Given the description of an element on the screen output the (x, y) to click on. 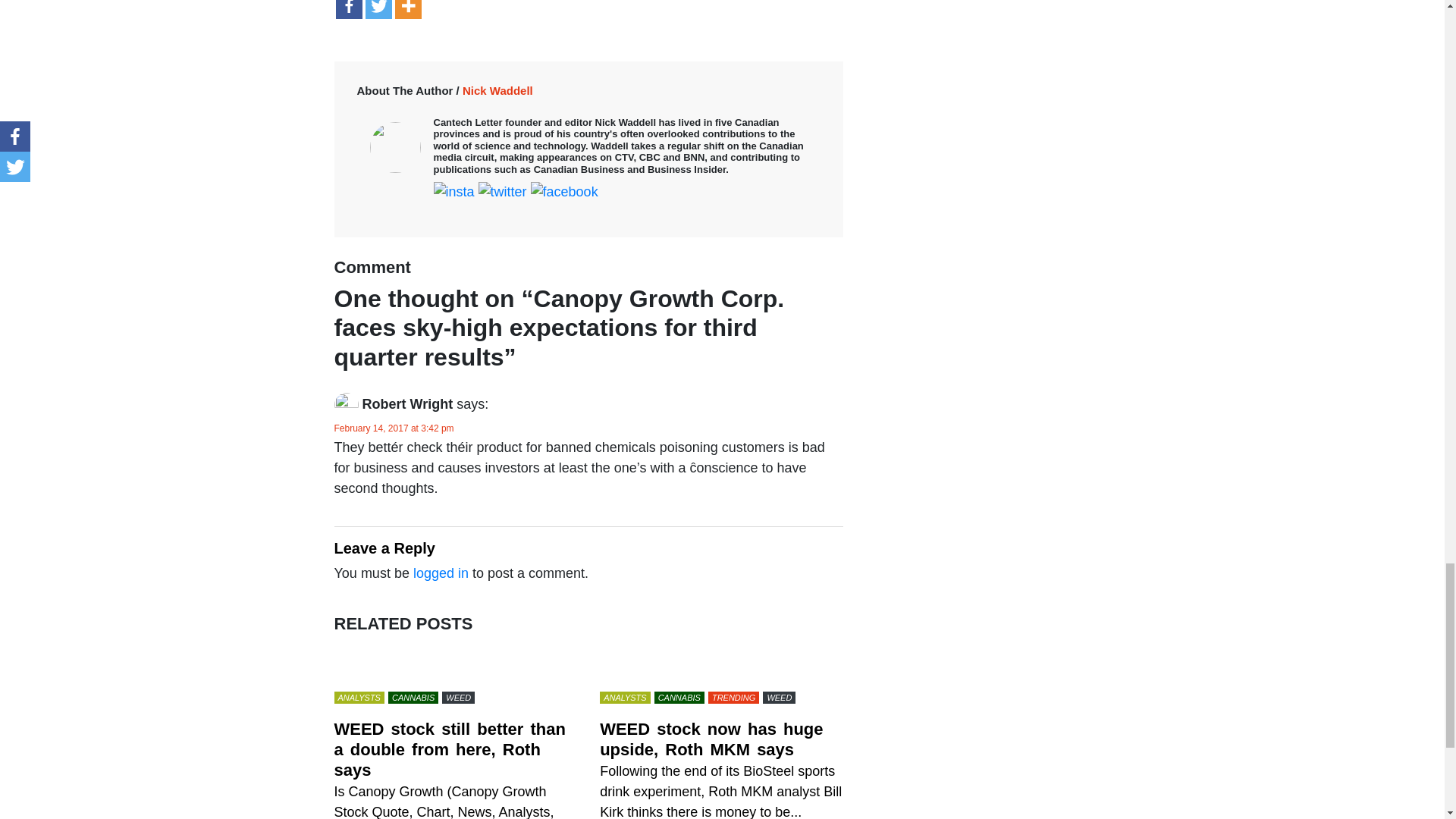
More (407, 9)
Facebook (347, 9)
Twitter (378, 9)
